Given the description of an element on the screen output the (x, y) to click on. 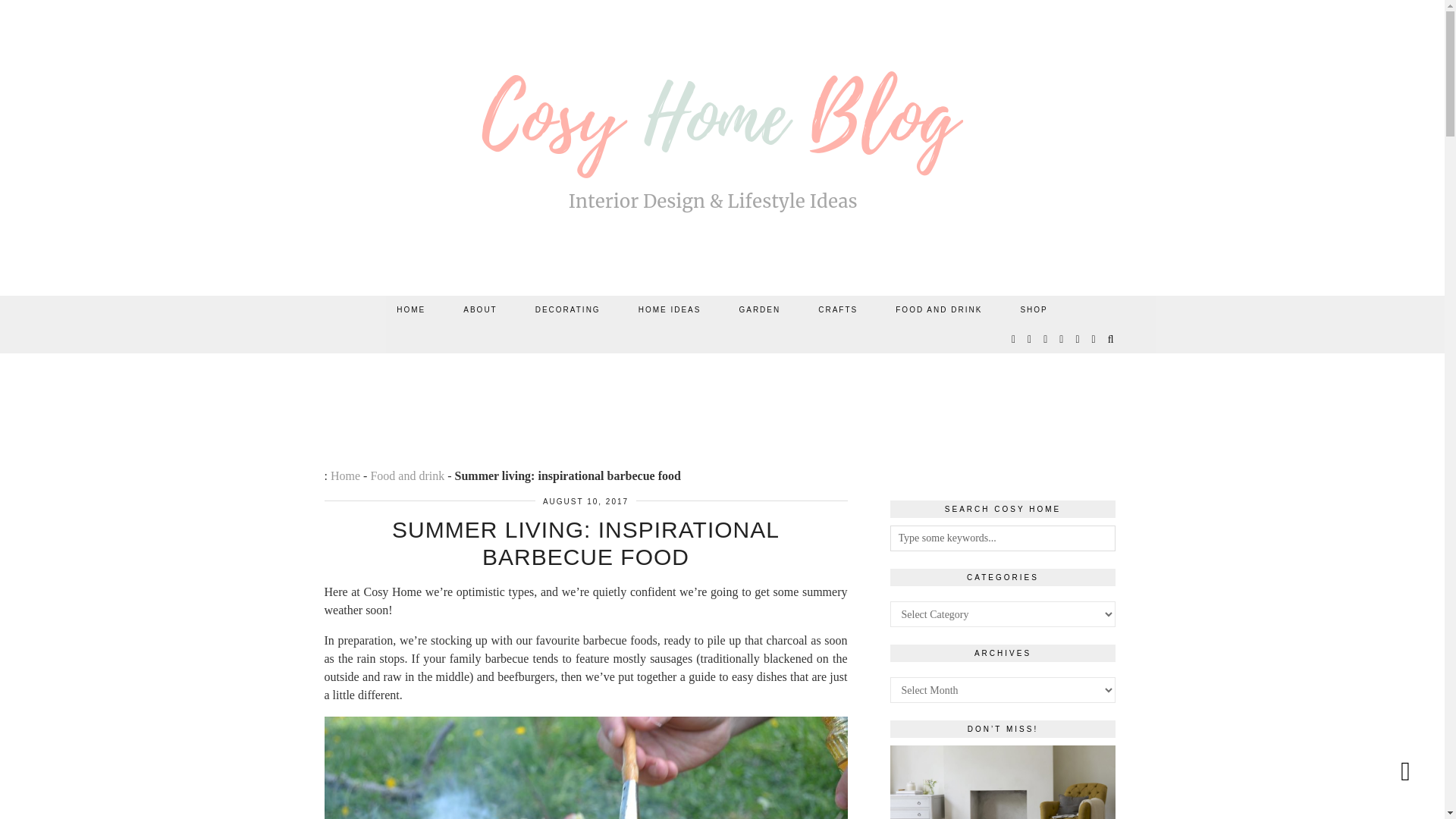
Home (344, 475)
ABOUT (479, 309)
SHOP (1033, 309)
HOME (410, 309)
HOME IDEAS (670, 309)
GARDEN (759, 309)
Food and drink (406, 475)
FOOD AND DRINK (938, 309)
CRAFTS (837, 309)
